Given the description of an element on the screen output the (x, y) to click on. 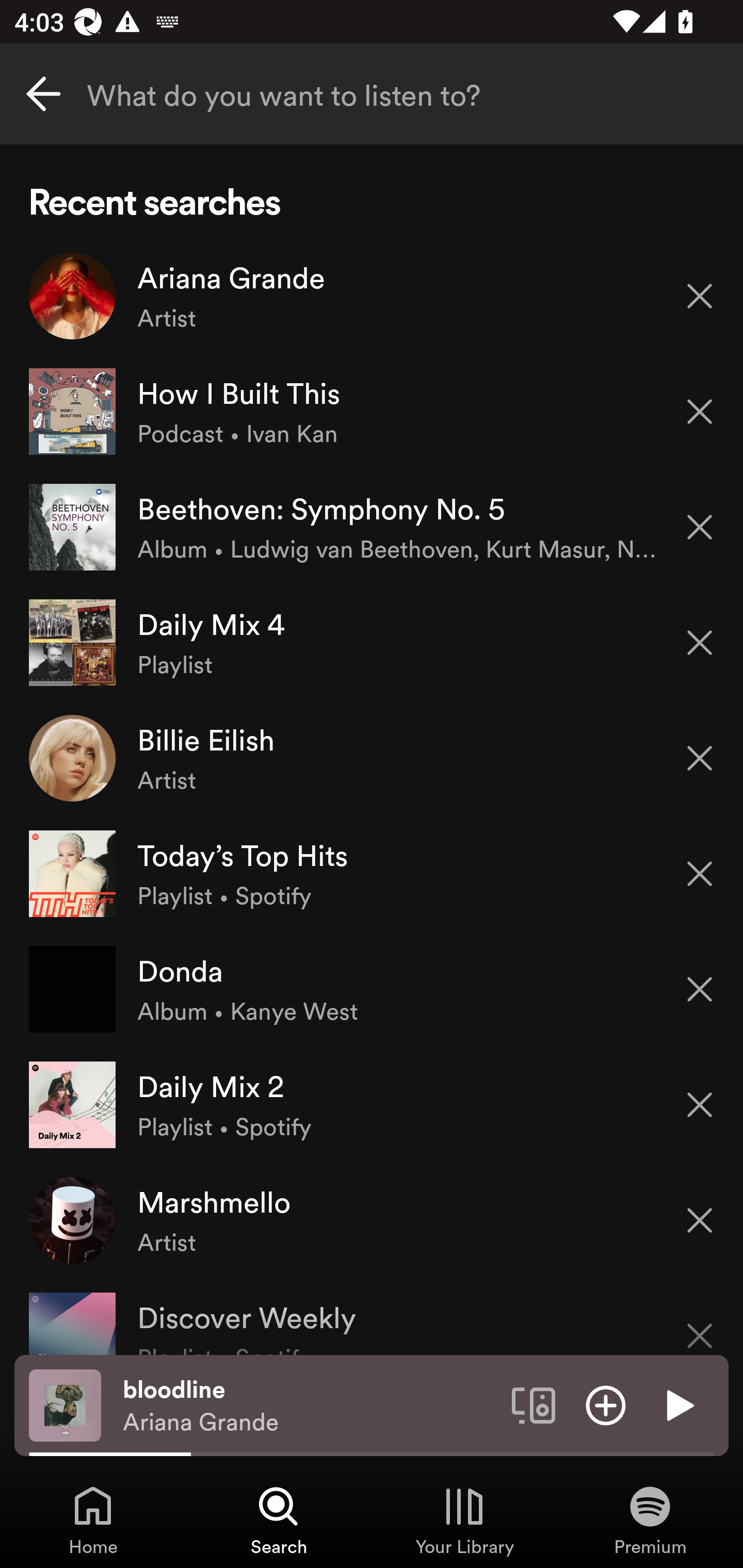
What do you want to listen to? (371, 93)
Cancel (43, 93)
Ariana Grande Artist Remove (371, 296)
Remove (699, 295)
How I Built This Podcast • Ivan Kan Remove (371, 411)
Remove (699, 411)
Remove (699, 527)
Daily Mix 4 Playlist Remove (371, 642)
Remove (699, 642)
Billie Eilish Artist Remove (371, 757)
Remove (699, 758)
Today’s Top Hits Playlist • Spotify Remove (371, 873)
Remove (699, 874)
Donda Album • Kanye West Remove (371, 989)
Remove (699, 989)
Daily Mix 2 Playlist • Spotify Remove (371, 1104)
Remove (699, 1104)
Marshmello Artist Remove (371, 1219)
Remove (699, 1220)
Discover Weekly Playlist • Spotify Remove (371, 1315)
Remove (699, 1323)
bloodline Ariana Grande (309, 1405)
The cover art of the currently playing track (64, 1404)
Connect to a device. Opens the devices menu (533, 1404)
Add item (605, 1404)
Play (677, 1404)
Home, Tab 1 of 4 Home Home (92, 1519)
Search, Tab 2 of 4 Search Search (278, 1519)
Your Library, Tab 3 of 4 Your Library Your Library (464, 1519)
Premium, Tab 4 of 4 Premium Premium (650, 1519)
